Given the description of an element on the screen output the (x, y) to click on. 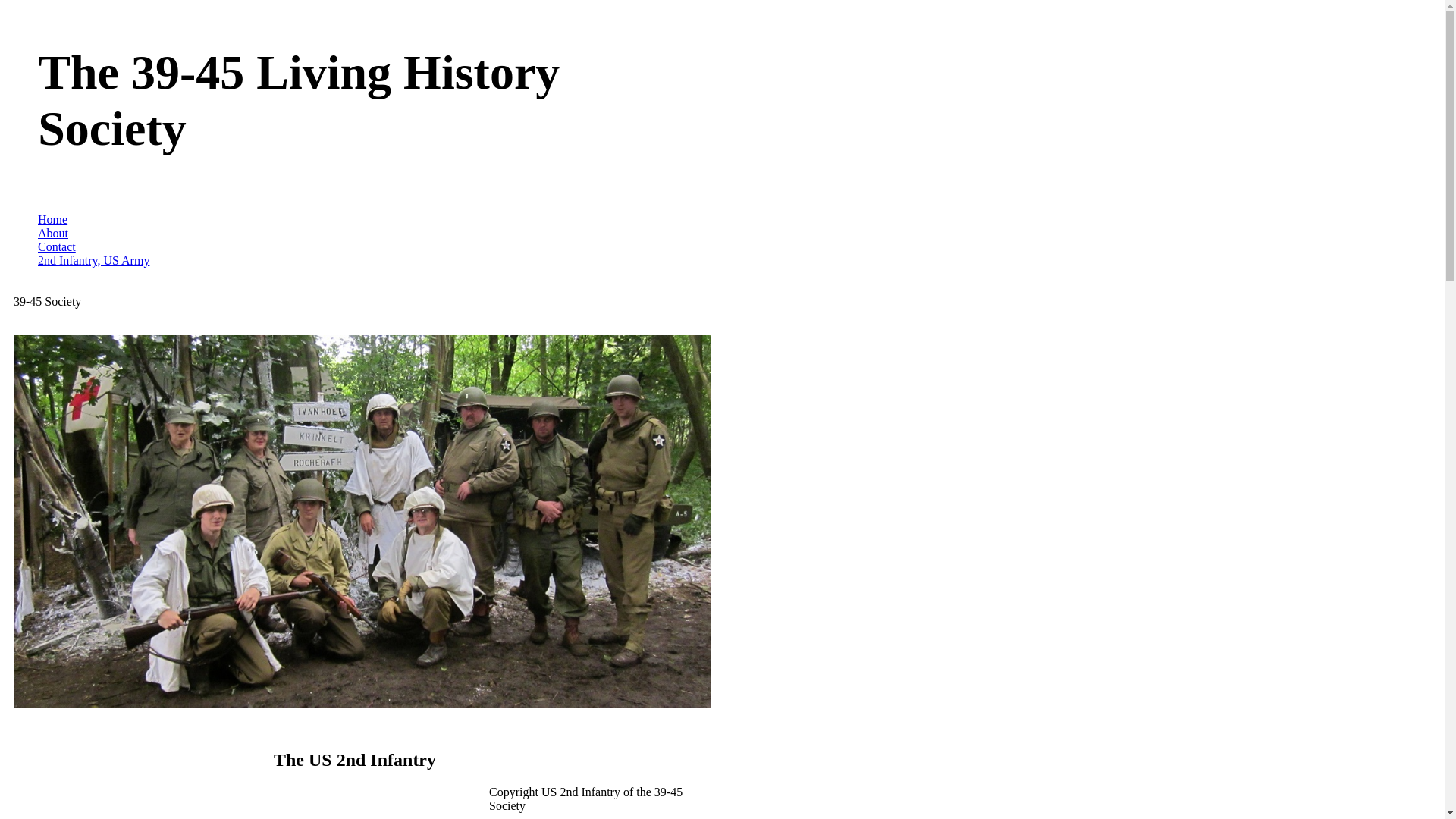
Home Element type: text (52, 219)
Contact Element type: text (56, 246)
2nd Infantry, US Army Element type: text (93, 260)
About Element type: text (52, 232)
